Given the description of an element on the screen output the (x, y) to click on. 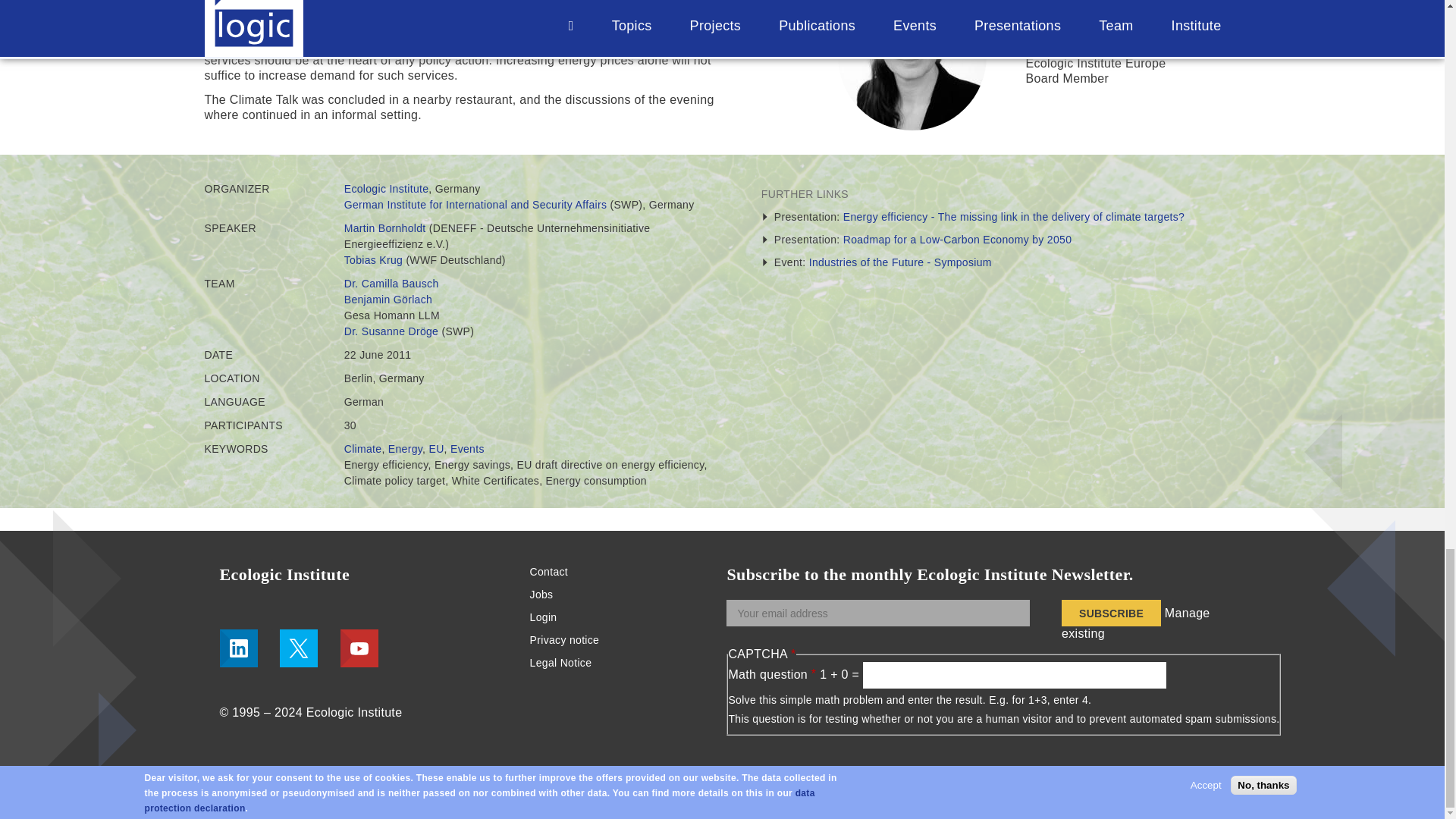
Subscribe (1110, 612)
Visit us on Twitter! (298, 648)
Visit us on LinkedIn! (238, 648)
Visit us on Youtube! (359, 648)
